Given the description of an element on the screen output the (x, y) to click on. 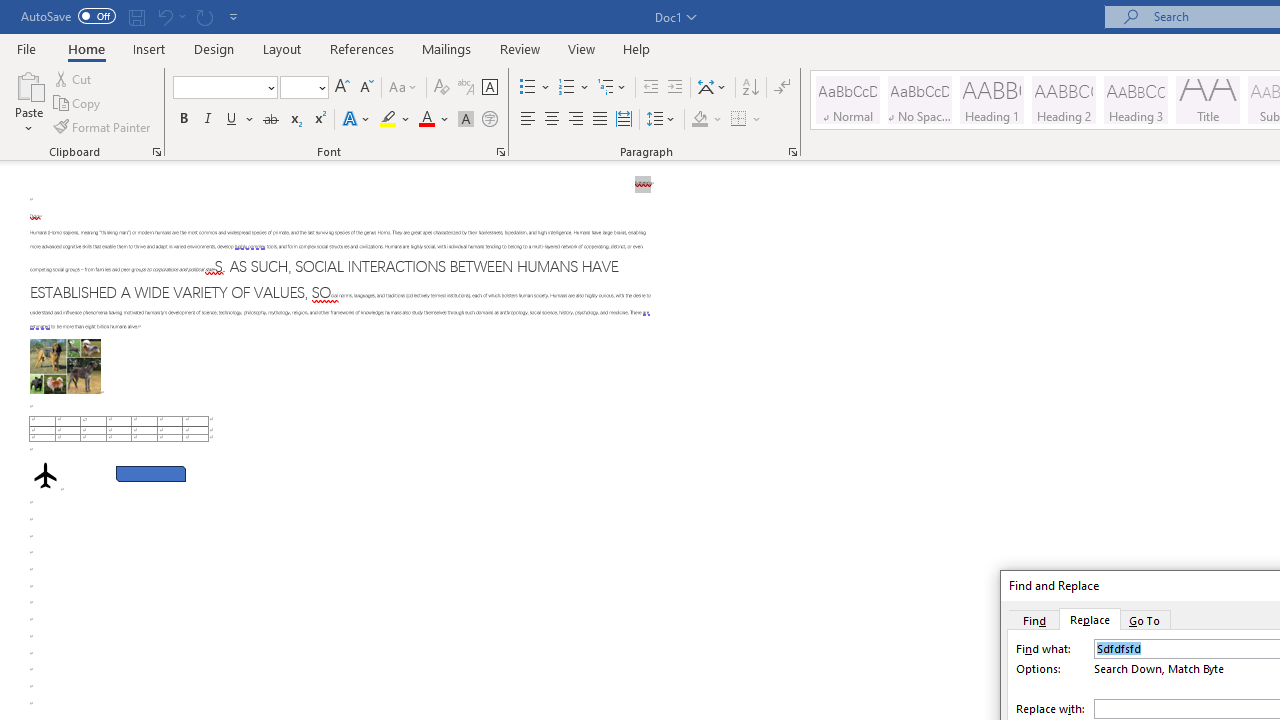
Repeat Paragraph Alignment (204, 15)
Rectangle: Diagonal Corners Snipped 2 (150, 473)
